Given the description of an element on the screen output the (x, y) to click on. 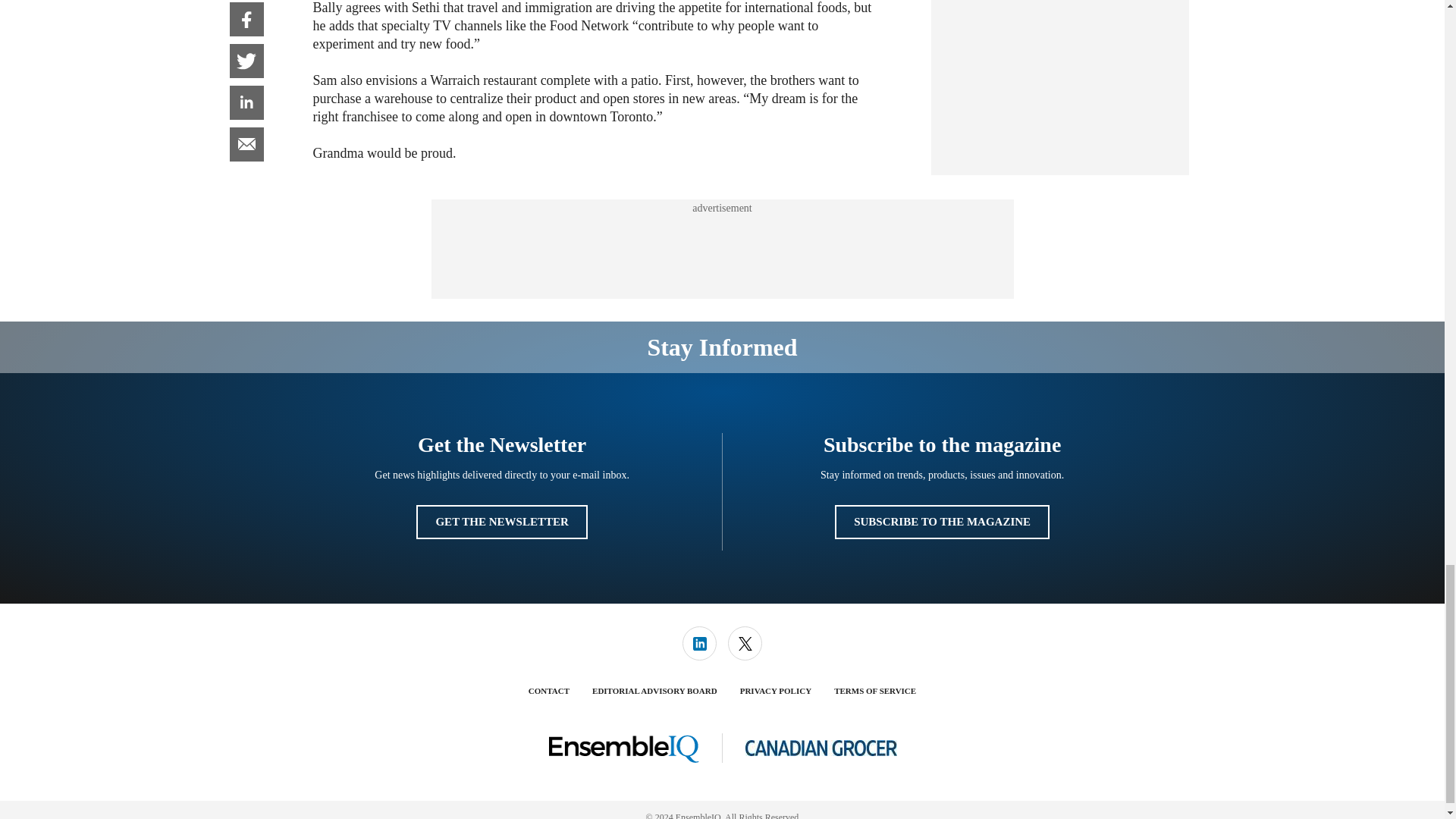
3rd party ad content (721, 249)
